Given the description of an element on the screen output the (x, y) to click on. 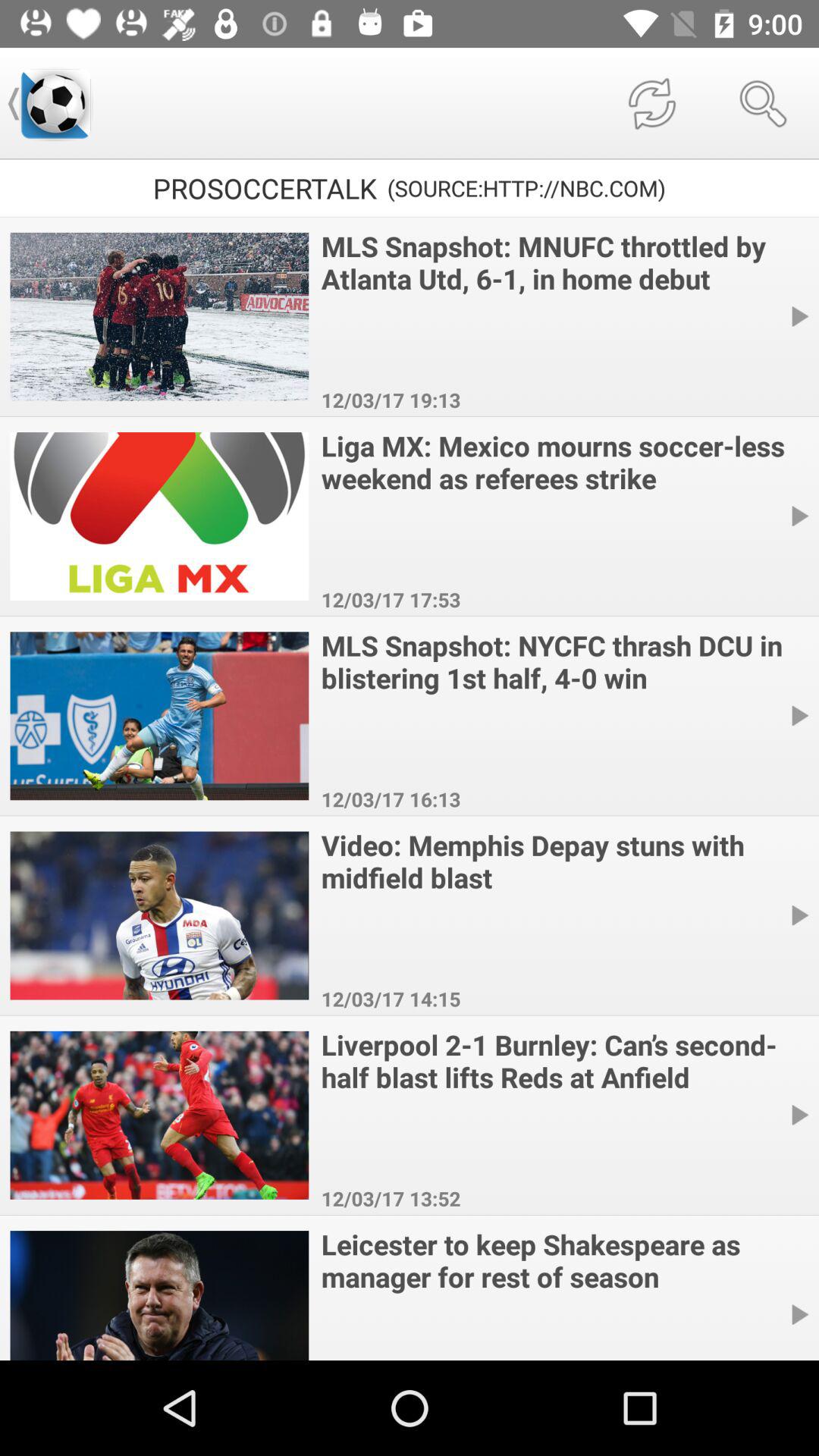
open the icon to the left of the prosoccertalk item (55, 103)
